Given the description of an element on the screen output the (x, y) to click on. 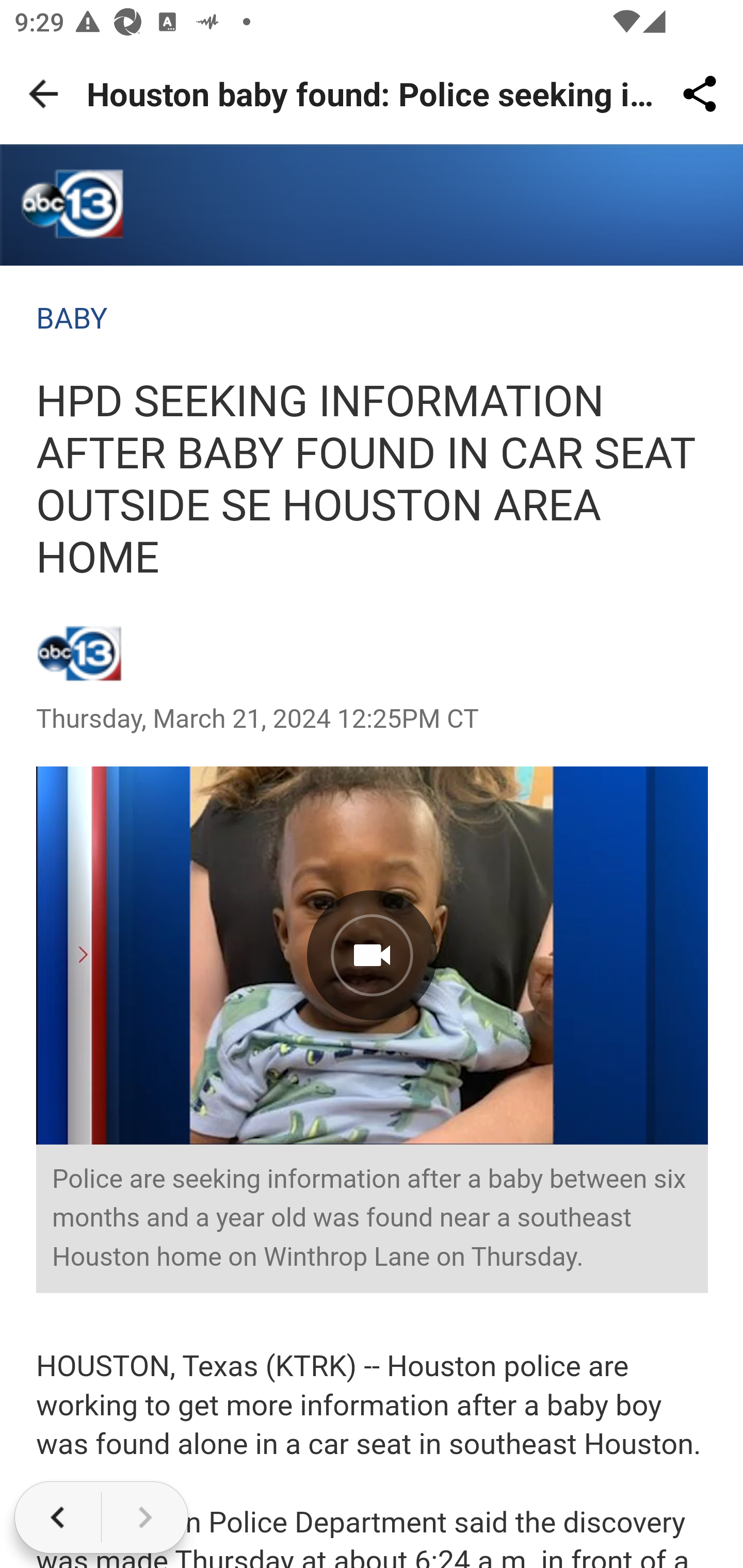
ktrk (71, 209)
BABY (72, 319)
